Given the description of an element on the screen output the (x, y) to click on. 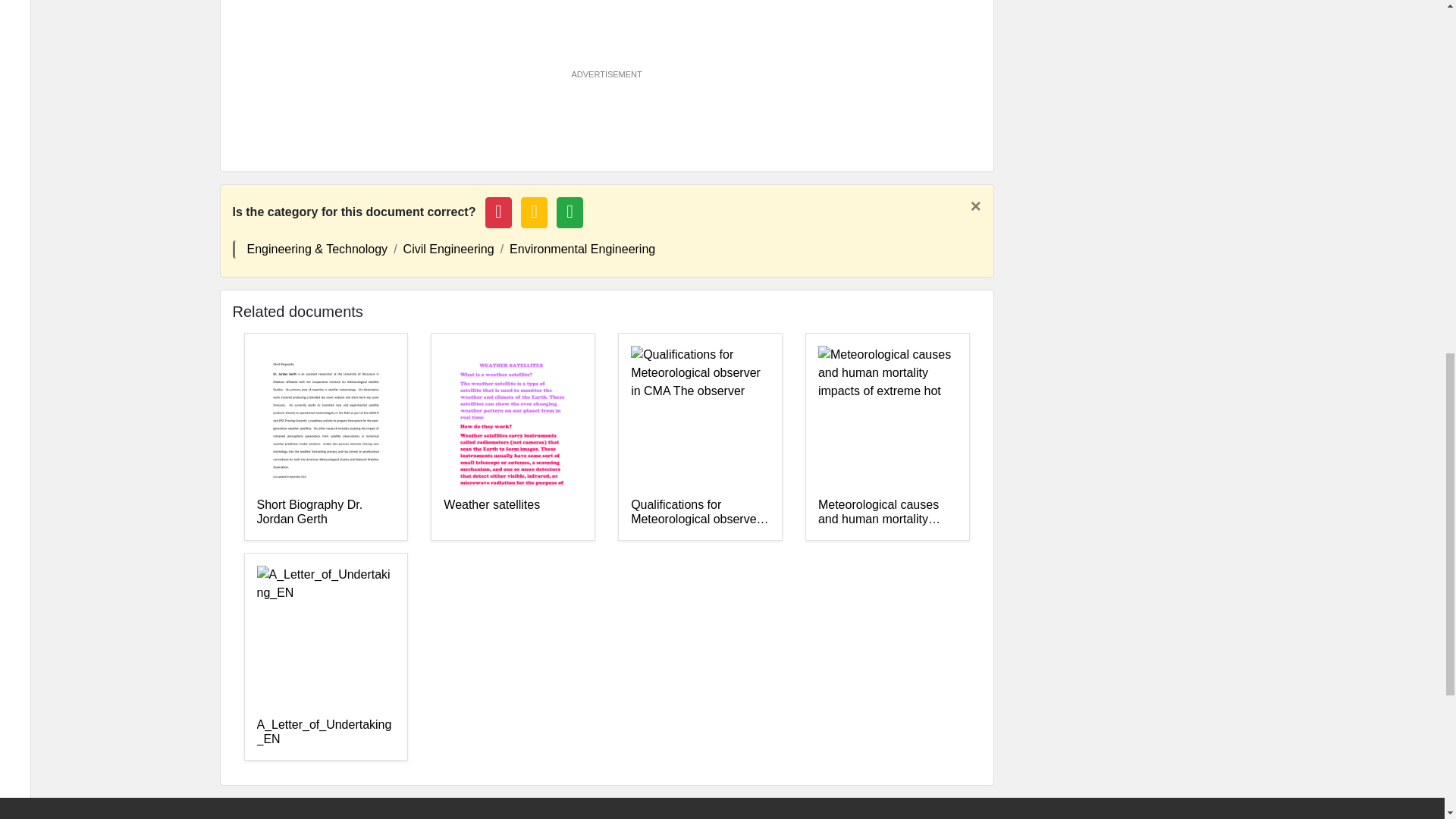
Weather satellites (513, 512)
Civil Engineering (449, 248)
Short Biography Dr.  Jordan  Gerth (325, 512)
Short Biography Dr. Jordan Gerth (325, 512)
Weather satellites (513, 512)
Environmental Engineering (582, 248)
